Given the description of an element on the screen output the (x, y) to click on. 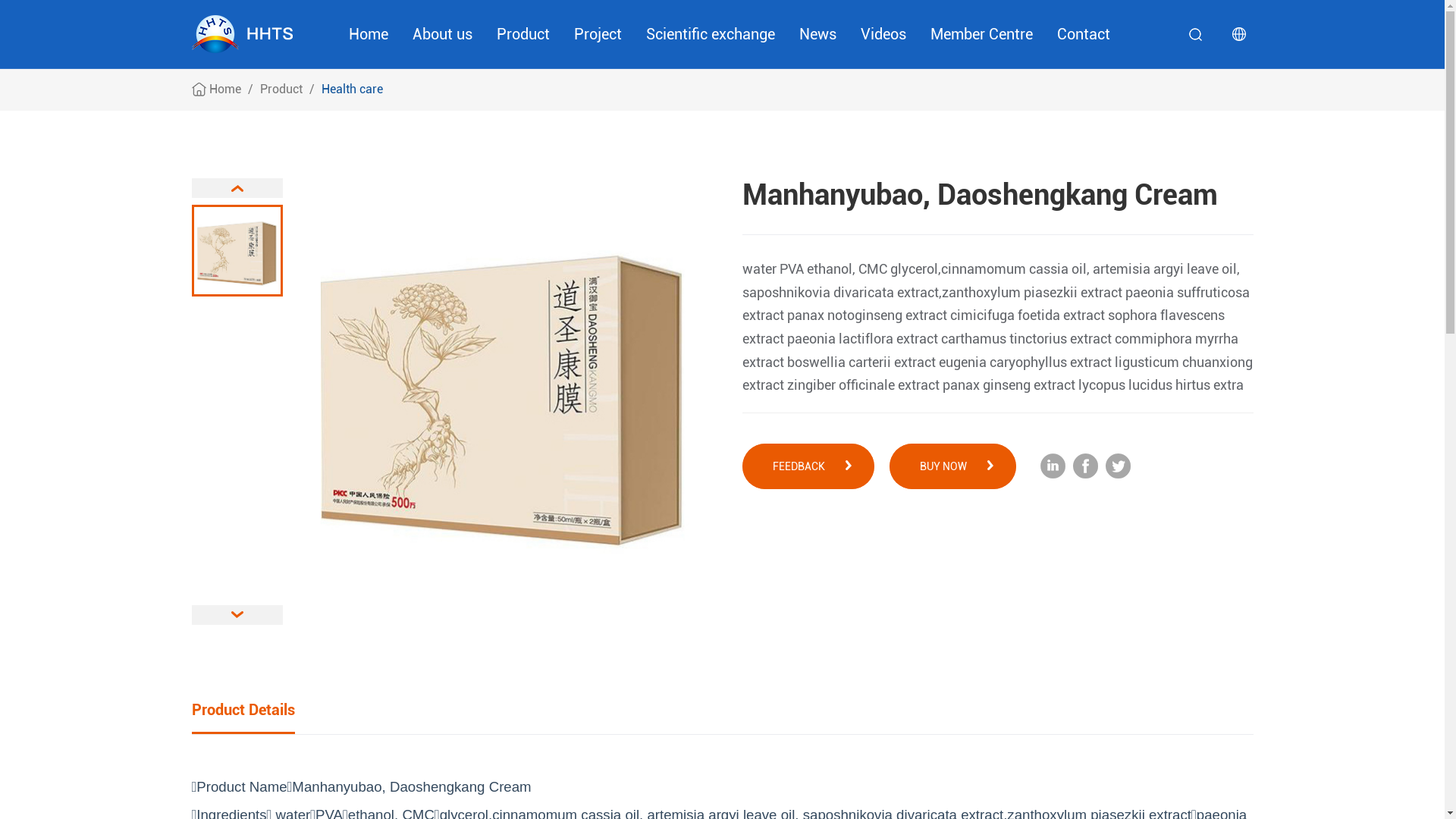
Health care Element type: text (351, 89)
Videos Element type: text (882, 34)
Scientific exchange Element type: text (710, 34)
Home Element type: text (368, 34)
Product Element type: text (522, 34)
News Element type: text (817, 34)
Product Element type: text (280, 89)
About us Element type: text (442, 34)
BUY NOW Element type: text (951, 466)
FEEDBACK Element type: text (807, 466)
Member Centre Element type: text (980, 34)
Home Element type: text (225, 89)
Contact Element type: text (1083, 34)
Project Element type: text (597, 34)
